Given the description of an element on the screen output the (x, y) to click on. 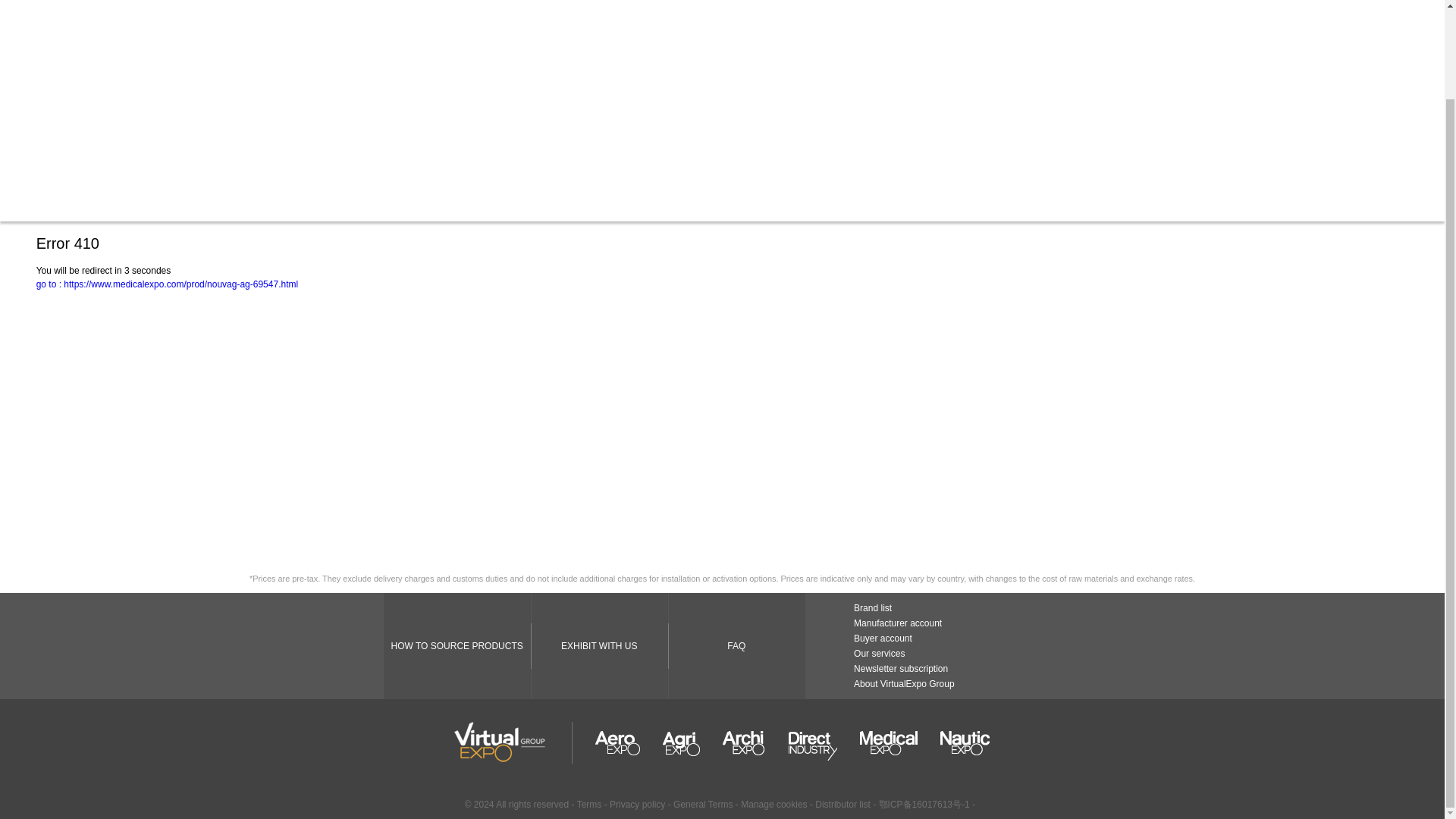
Newsletter subscription (900, 668)
Buyer account (882, 638)
Privacy policy (637, 804)
About VirtualExpo Group (904, 683)
Our services (878, 653)
General Terms (703, 804)
HOW TO SOURCE PRODUCTS (456, 645)
Manufacturer account (897, 623)
Terms (589, 804)
Brand list (872, 607)
